Given the description of an element on the screen output the (x, y) to click on. 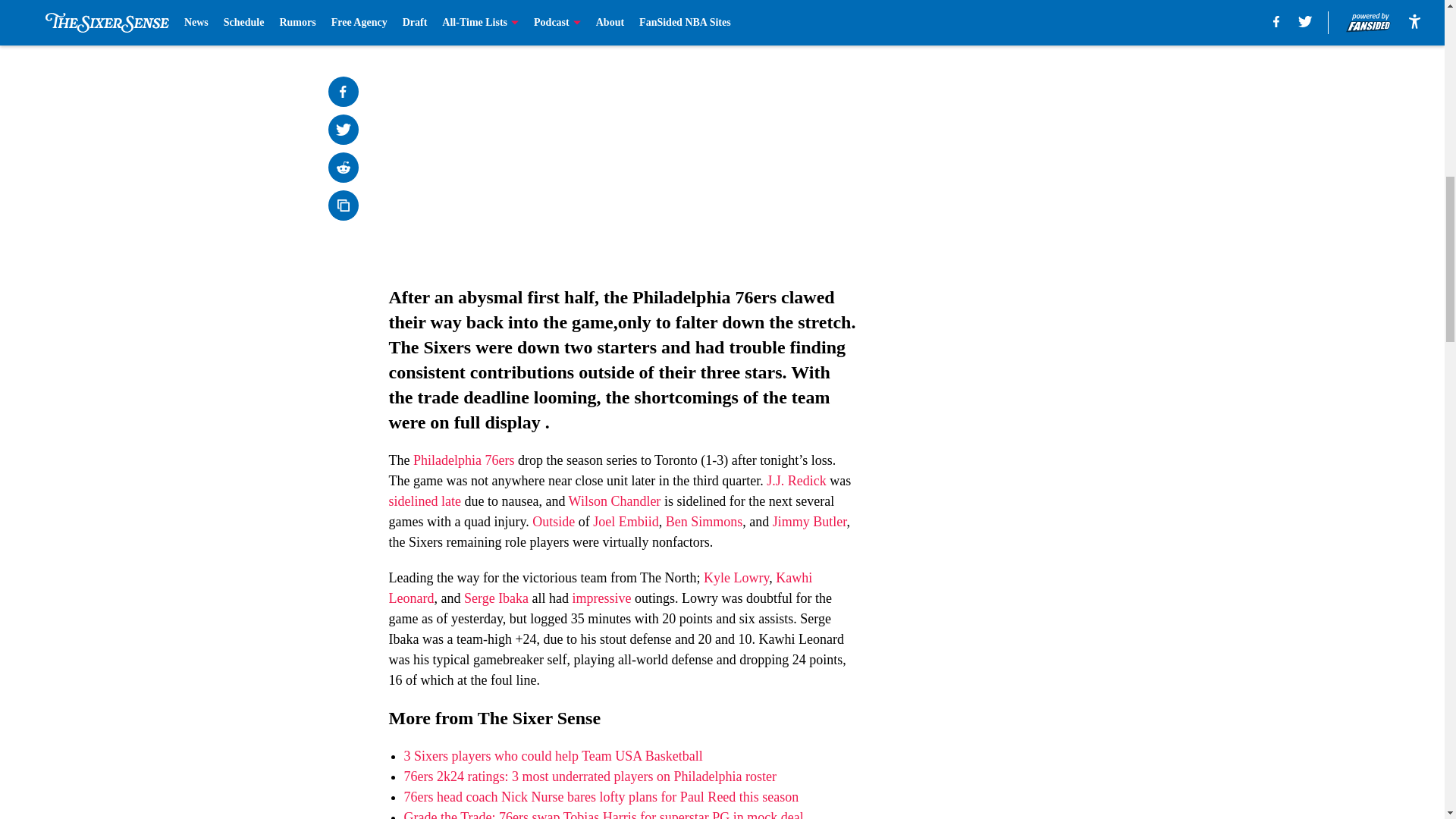
Philadelphia 76ers (463, 459)
Kawhi Leonard (600, 588)
Wilson Chandler (615, 500)
3 Sixers players who could help Team USA Basketball (552, 755)
impressive (601, 598)
Ben Simmons (703, 521)
Jimmy Butler (810, 521)
sidelined late (424, 500)
